Given the description of an element on the screen output the (x, y) to click on. 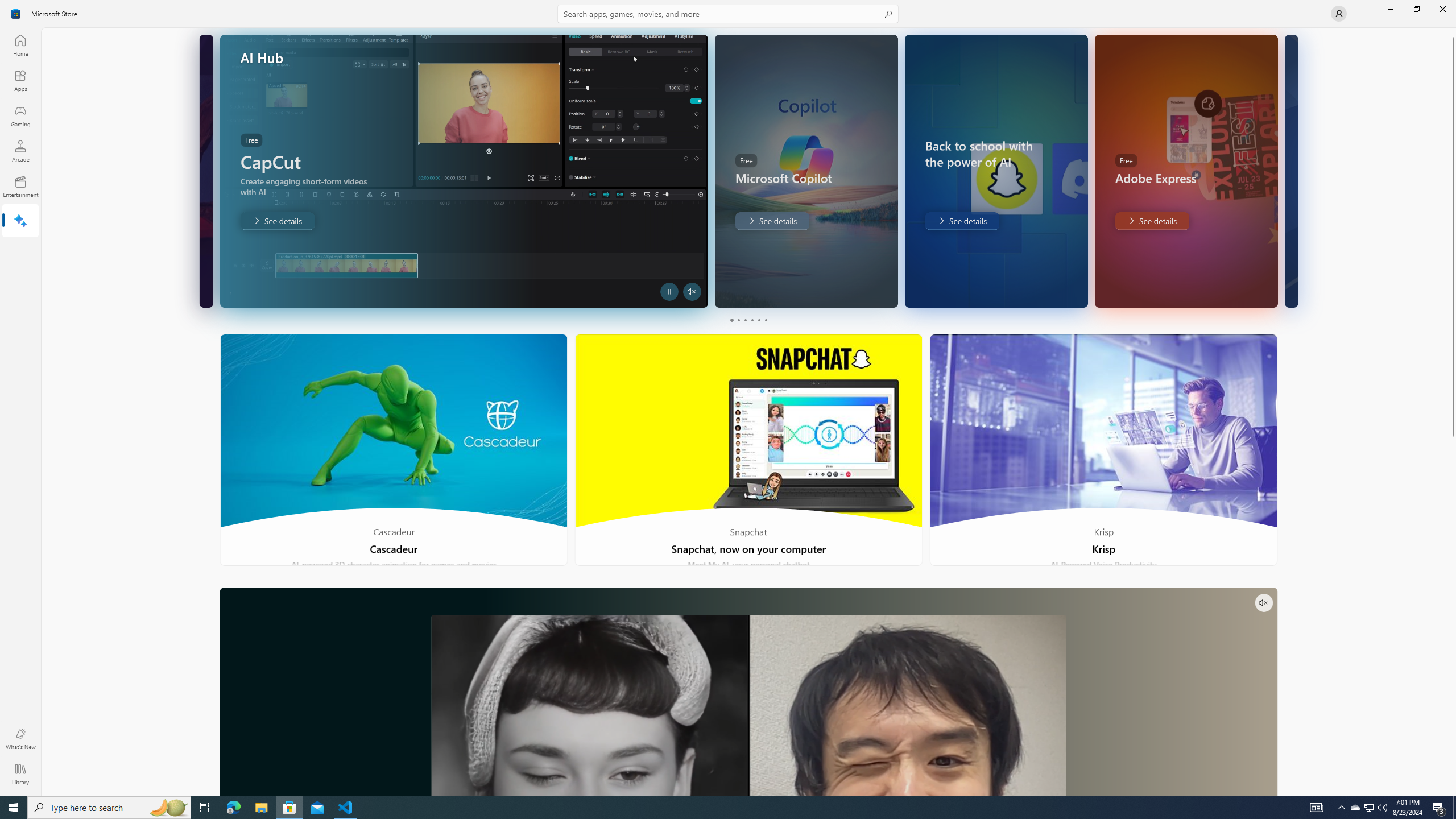
Krisp (1102, 449)
Page 3 (744, 319)
Vertical Large Increase (1452, 613)
Become anyone on Zoom, Twitch, or any streaming video (747, 691)
Close Microsoft Store (1442, 9)
Page 2 (738, 319)
What's New (20, 738)
